Given the description of an element on the screen output the (x, y) to click on. 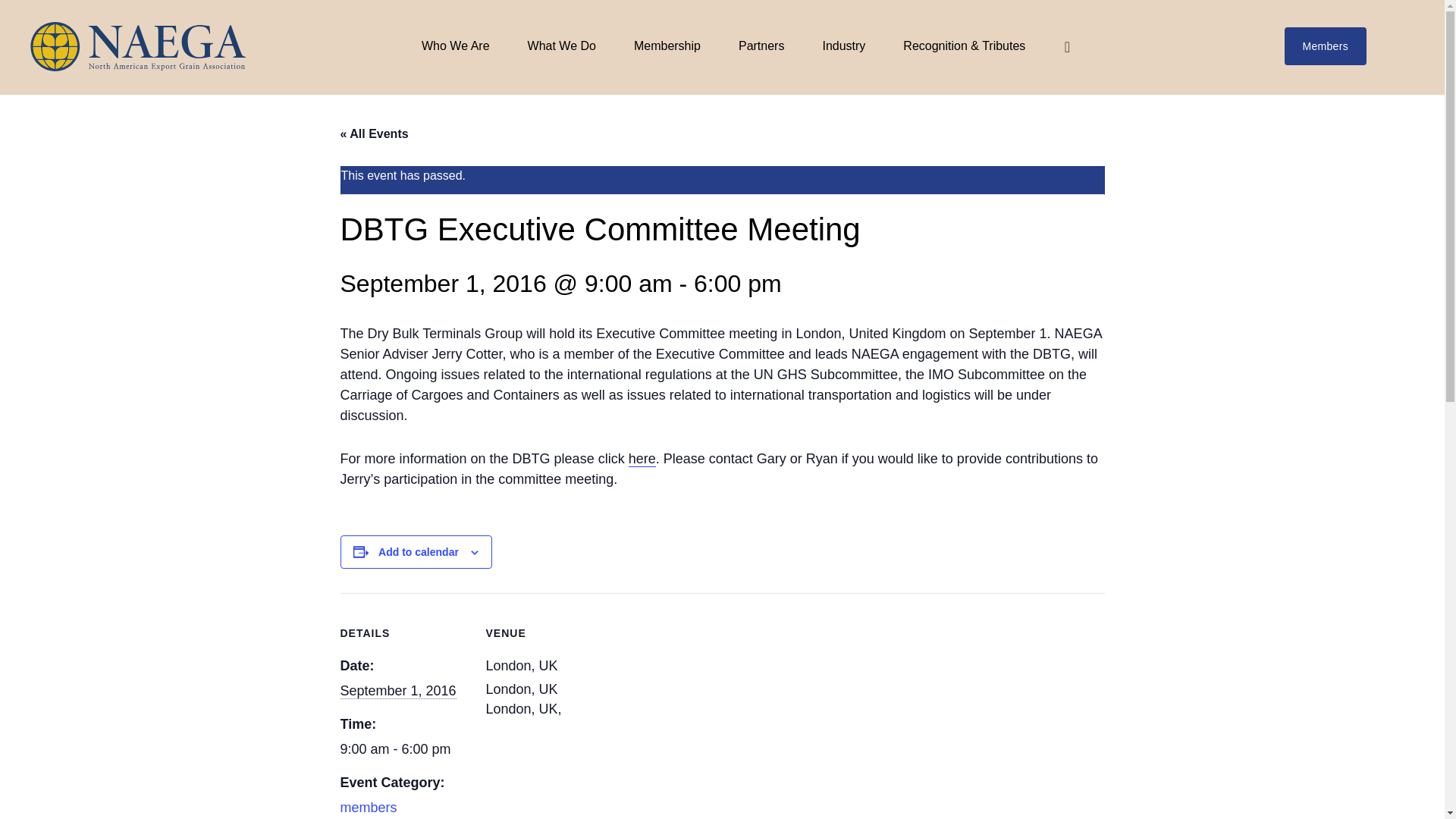
Members (1325, 46)
Industry (842, 45)
members (367, 807)
What We Do (561, 45)
2016-09-01 (397, 691)
2016-09-01 (403, 749)
Who We Are (455, 45)
Membership (666, 45)
Add to calendar (418, 551)
here (642, 458)
Partners (761, 45)
